Given the description of an element on the screen output the (x, y) to click on. 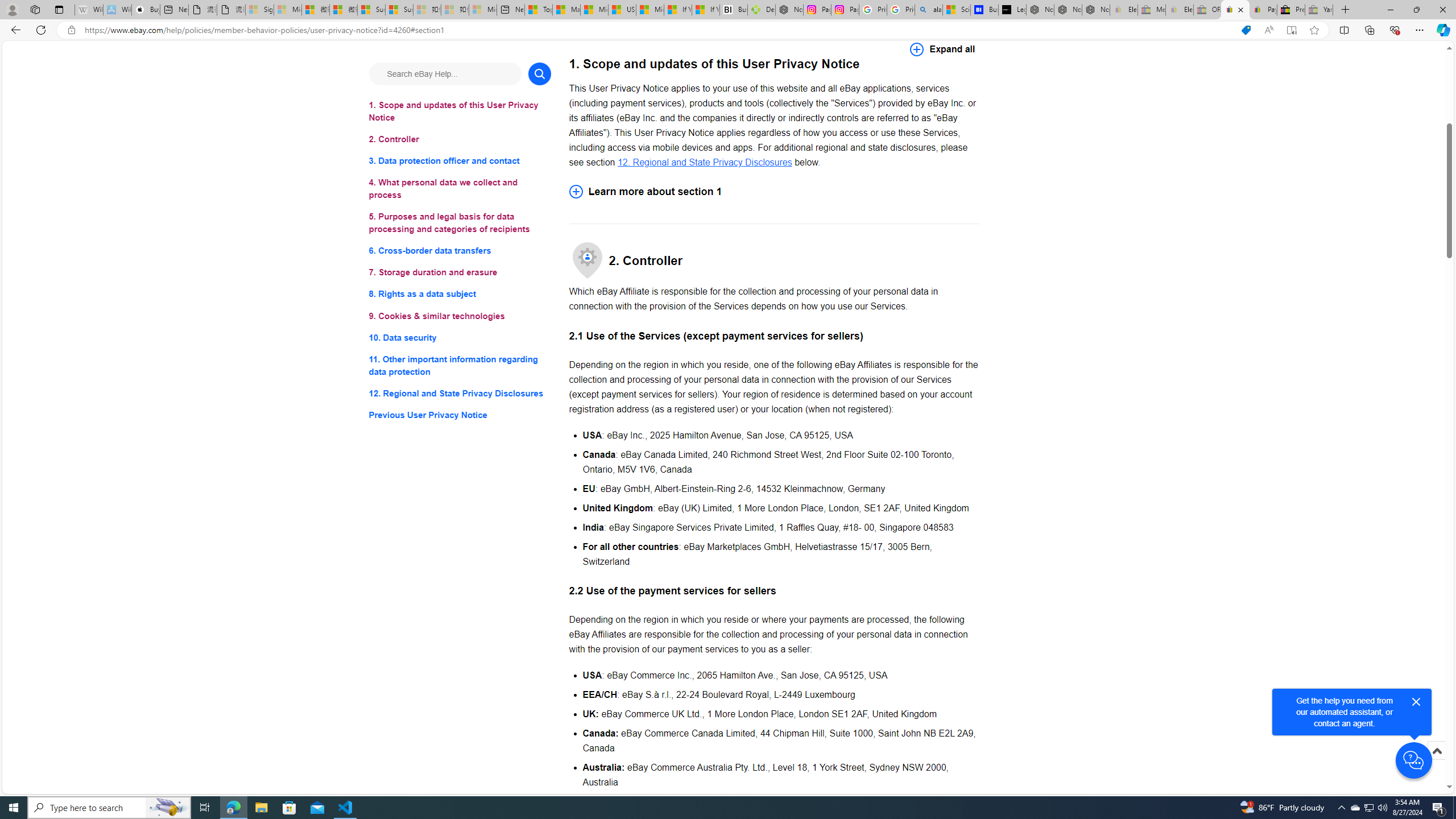
4. What personal data we collect and process (459, 189)
Payments Terms of Use | eBay.com (1262, 9)
4. What personal data we collect and process (459, 189)
10. Data security (459, 336)
Marine life - MSN (566, 9)
